Given the description of an element on the screen output the (x, y) to click on. 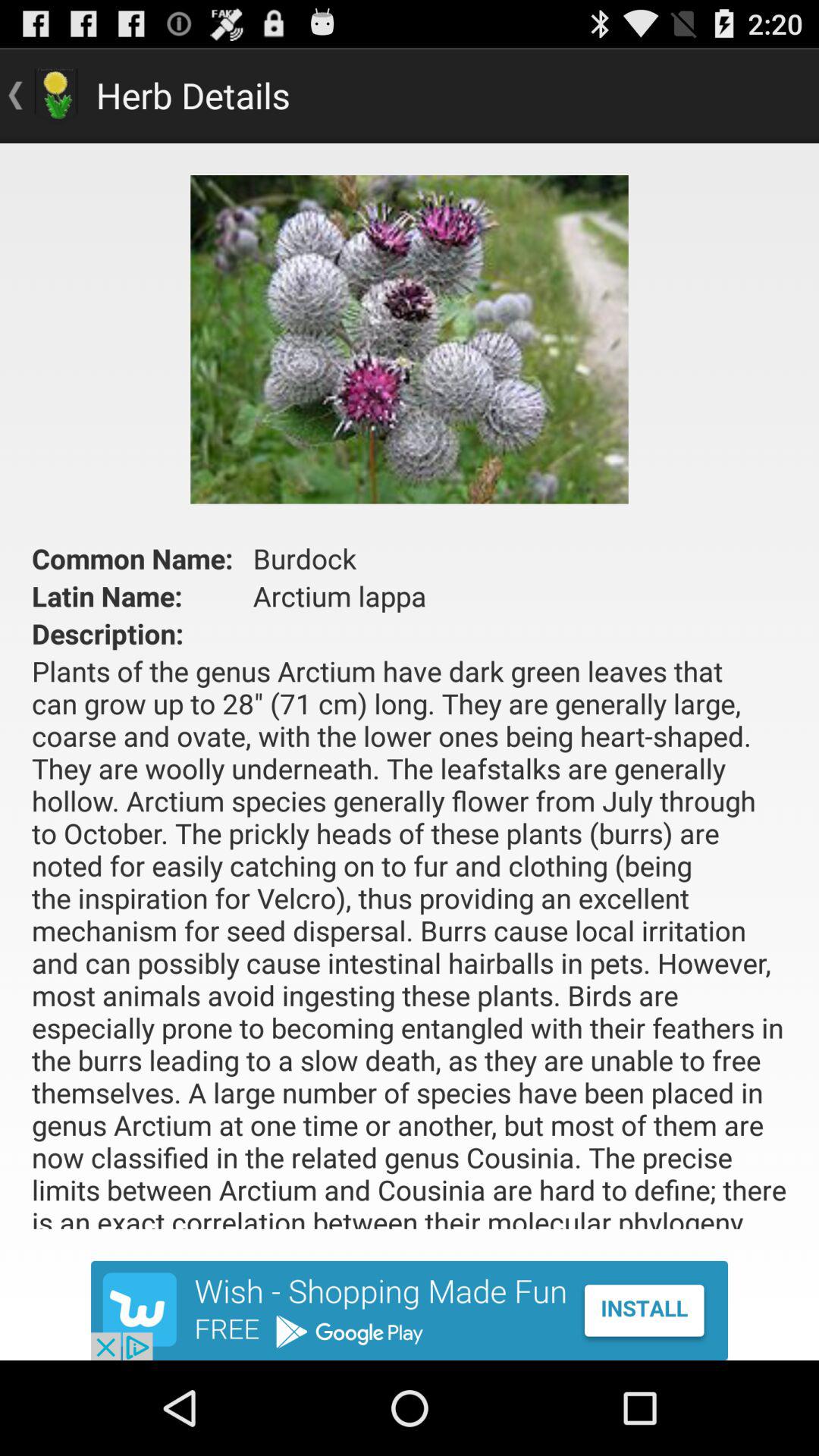
herb details (409, 1310)
